Given the description of an element on the screen output the (x, y) to click on. 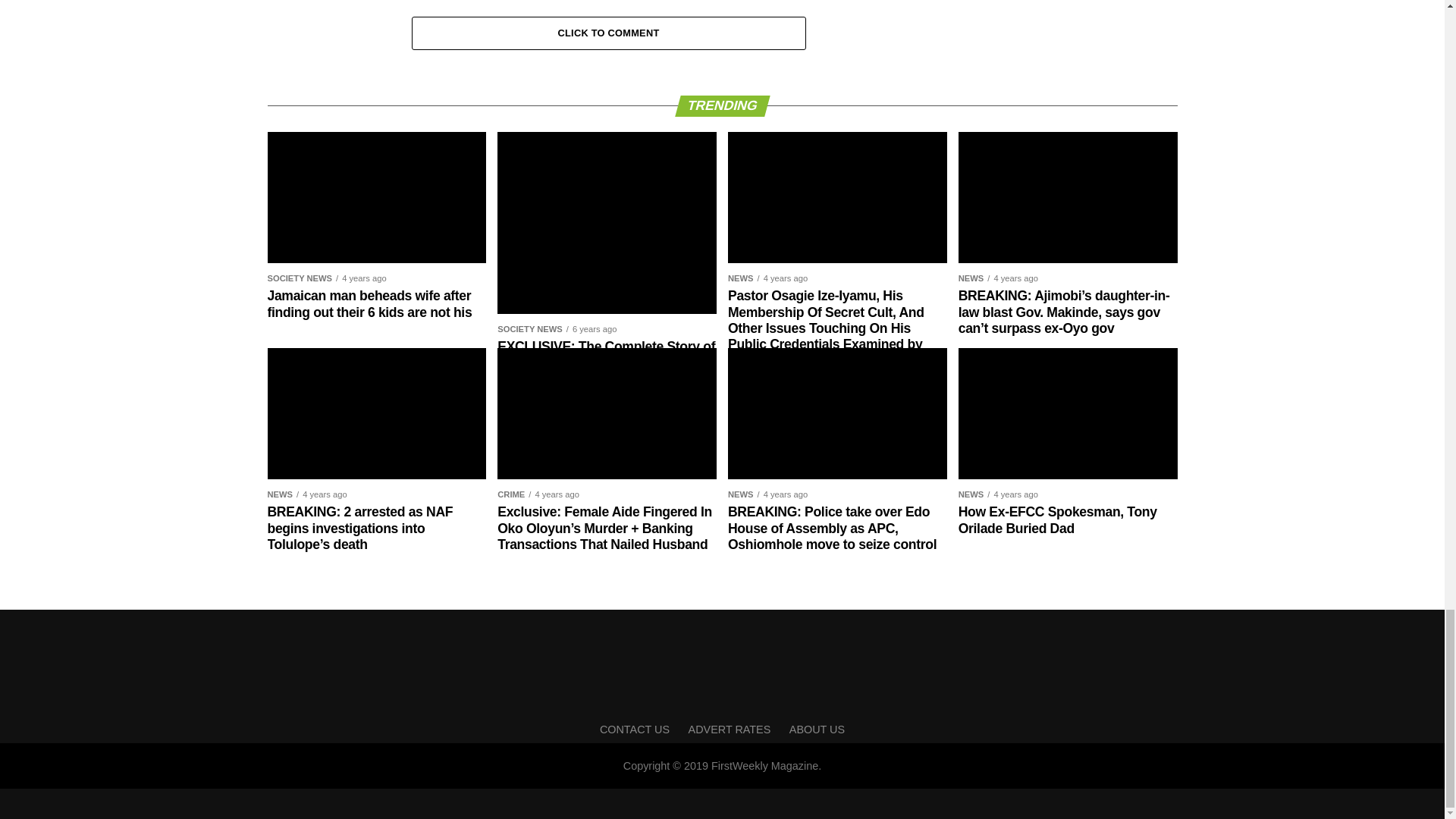
CONTACT US (634, 729)
ADVERT RATES (729, 729)
ABOUT US (816, 729)
